Given the description of an element on the screen output the (x, y) to click on. 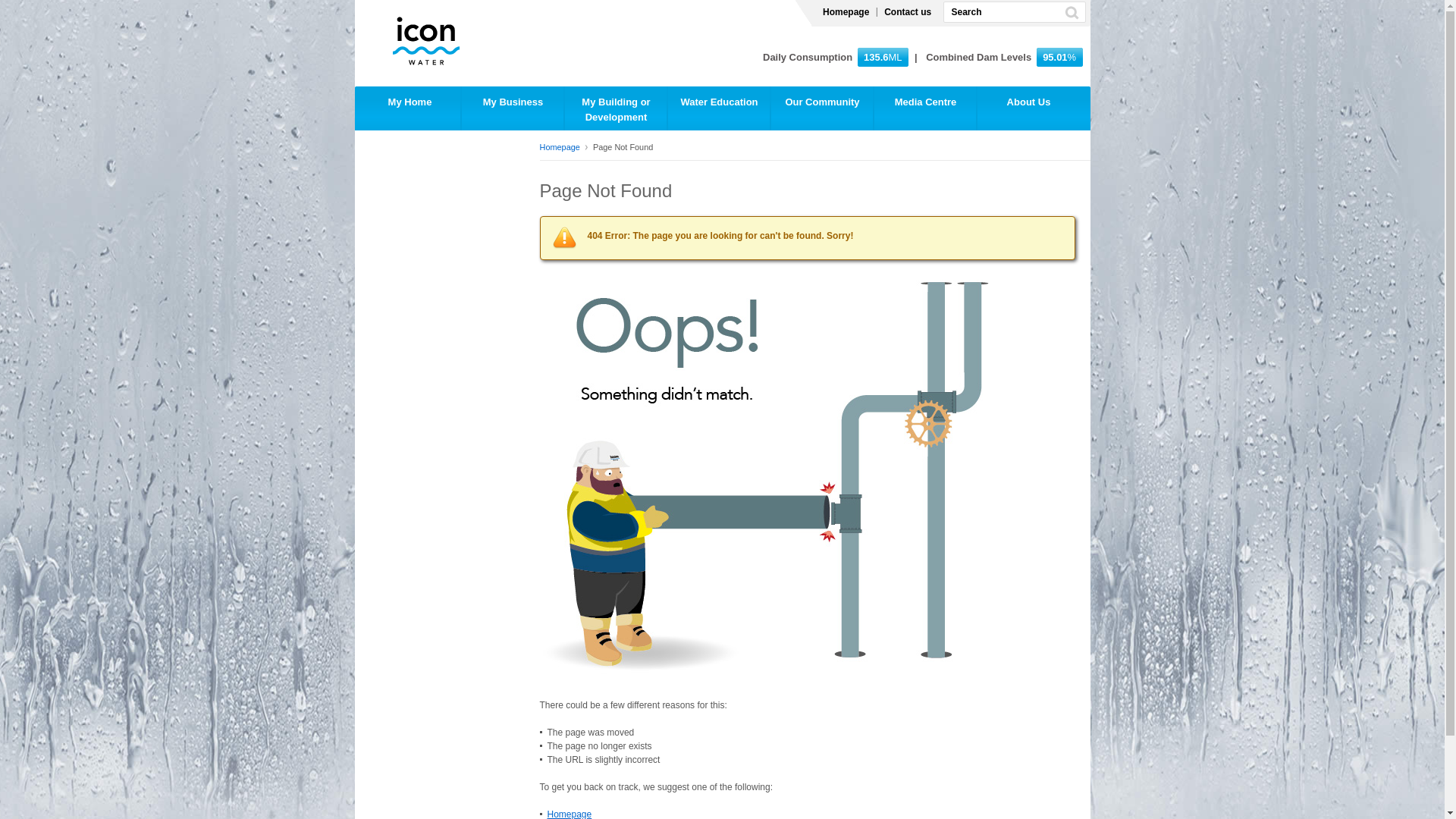
My Building or Development Element type: text (615, 109)
About Us Element type: text (1027, 109)
My Home Element type: text (406, 109)
Media Centre Element type: text (924, 109)
Homepage Element type: text (563, 146)
Water Education Element type: text (718, 109)
Our Community Element type: text (821, 109)
Homepage Element type: text (845, 11)
My Business Element type: text (512, 109)
Contact us Element type: text (907, 11)
